Given the description of an element on the screen output the (x, y) to click on. 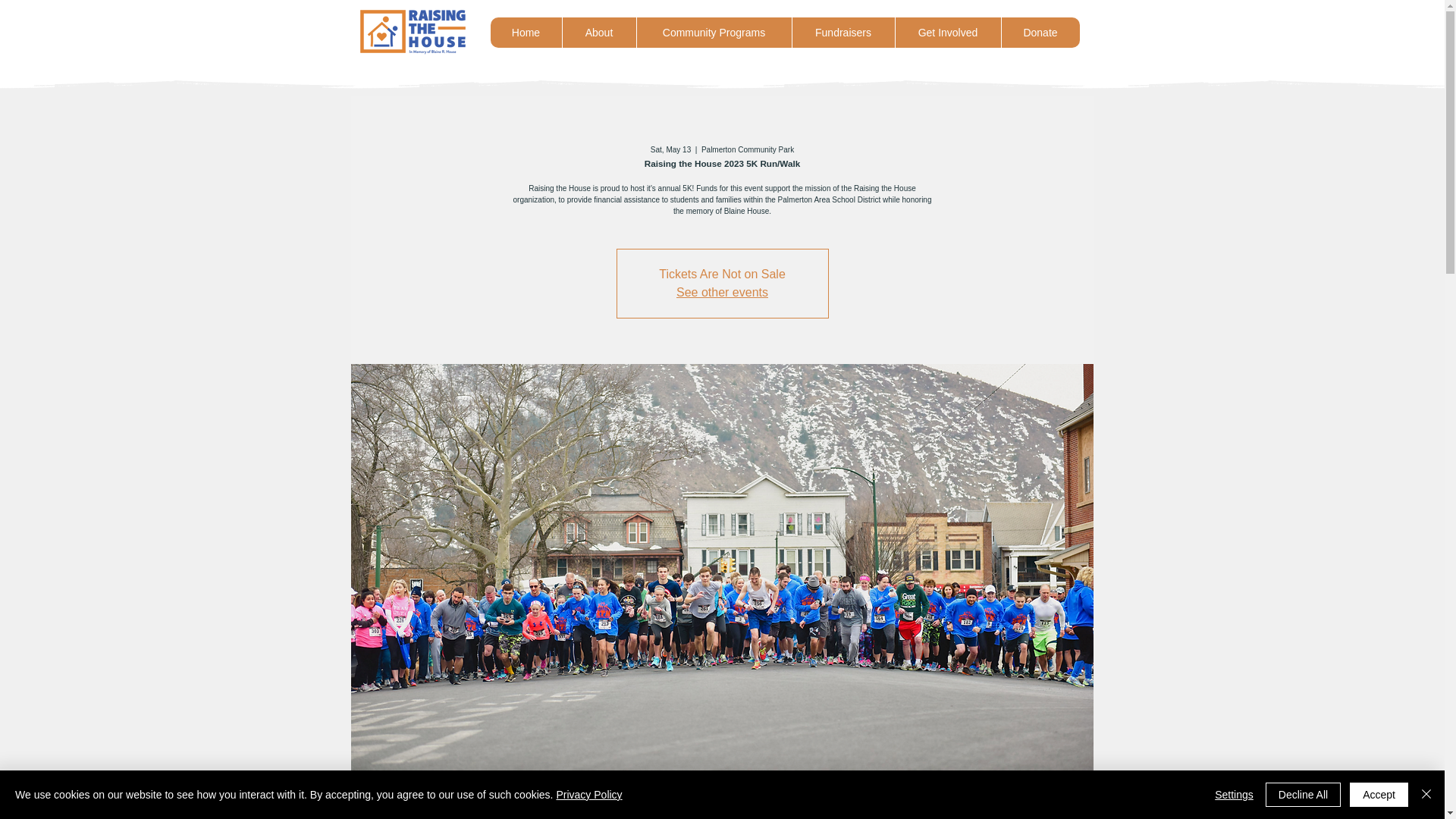
Accept (1378, 794)
Donate (1040, 32)
Home (524, 32)
See other events (722, 291)
Decline All (1302, 794)
Privacy Policy (588, 794)
